Given the description of an element on the screen output the (x, y) to click on. 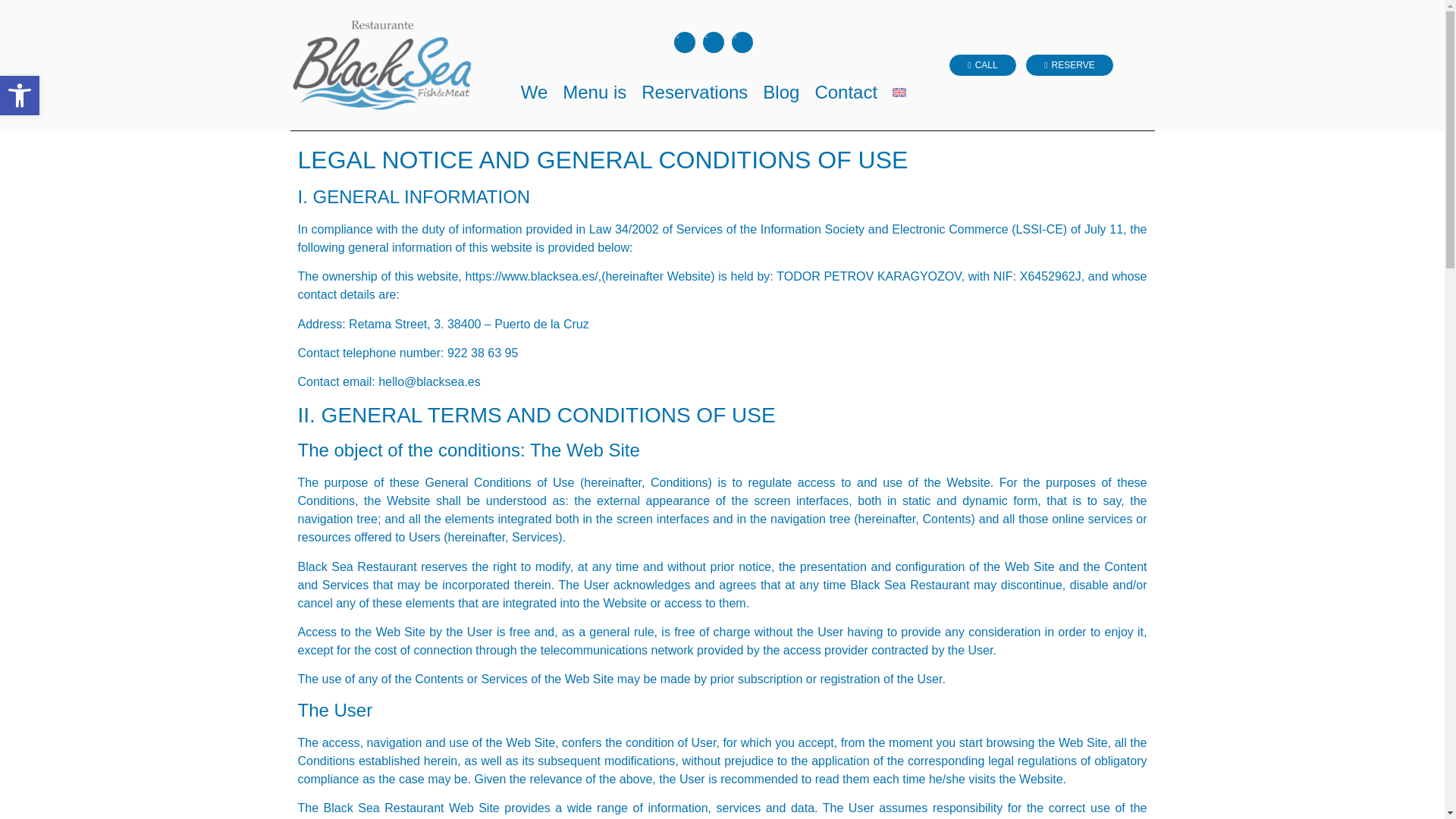
Accessibility Tools (19, 95)
Accessibility Tools (19, 95)
